Given the description of an element on the screen output the (x, y) to click on. 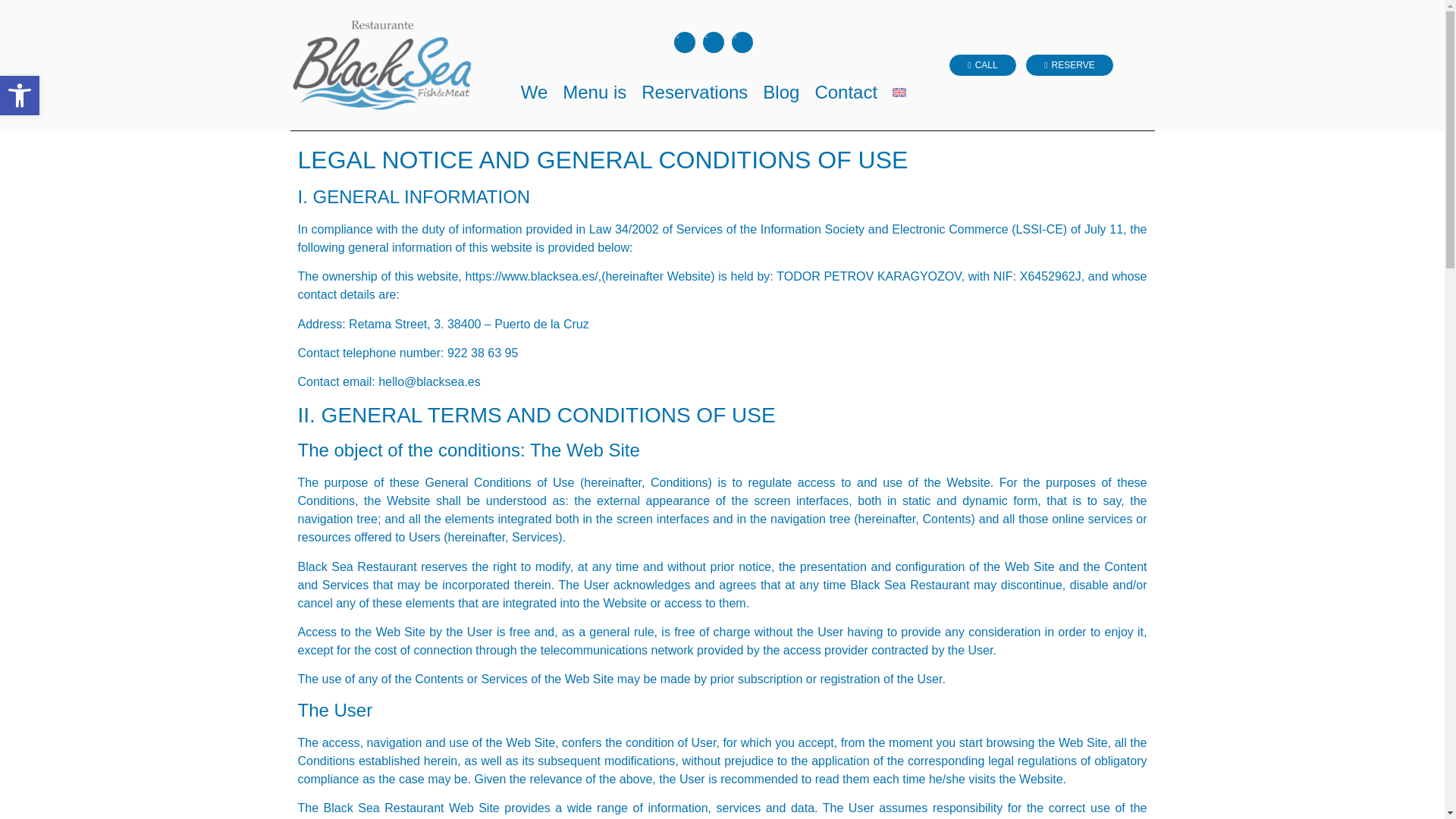
Accessibility Tools (19, 95)
Accessibility Tools (19, 95)
